Given the description of an element on the screen output the (x, y) to click on. 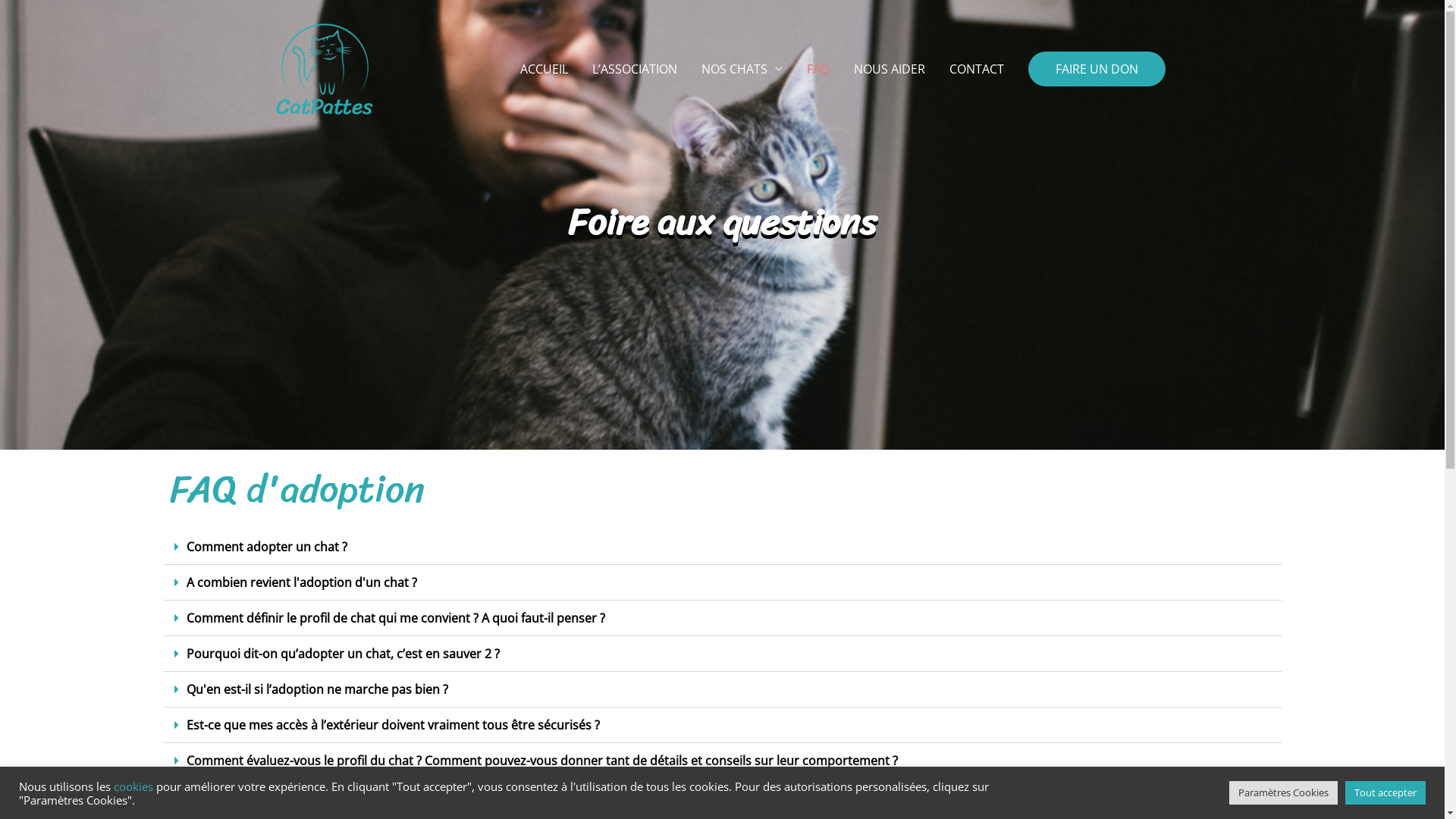
NOUS AIDER Element type: text (889, 68)
FAIRE UN DON Element type: text (1096, 68)
A combien revient l'adoption d'un chat ? Element type: text (301, 582)
Tout accepter Element type: text (1385, 792)
Comment adopter un chat ? Element type: text (266, 546)
FAIRE UN DON Element type: text (1096, 68)
NOS CHATS Element type: text (740, 68)
ACCUEIL Element type: text (544, 68)
cookies Element type: text (133, 785)
FAQ Element type: text (817, 68)
CONTACT Element type: text (976, 68)
